Given the description of an element on the screen output the (x, y) to click on. 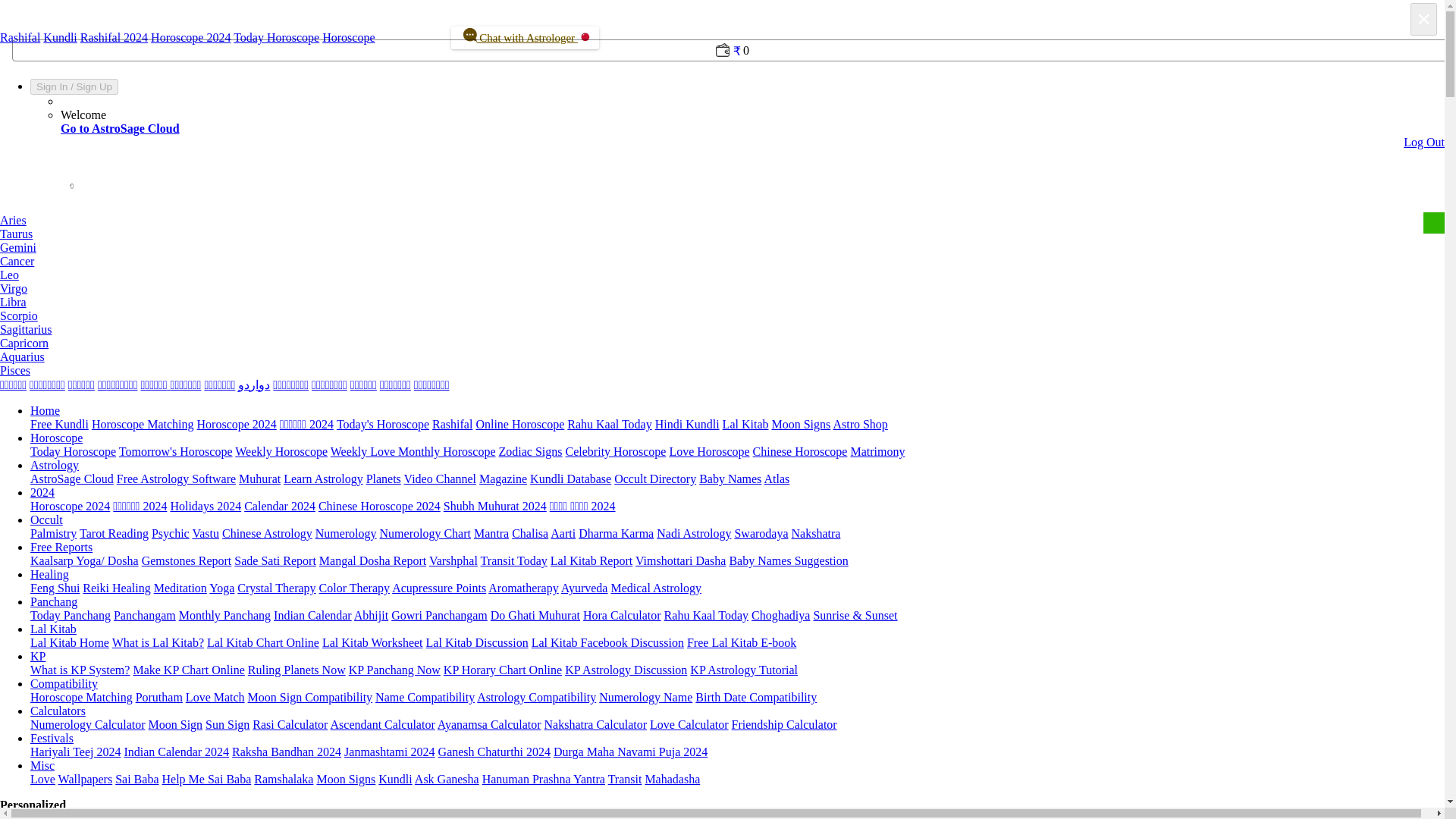
Go to AstroSage Cloud (120, 128)
Leo (9, 274)
Tamil (13, 384)
Capricorn (24, 342)
Urdu (253, 384)
Wallet (722, 62)
Gemini (18, 246)
Malayalam (218, 384)
Get your daily rashifal in hindi (451, 423)
Telugu (47, 384)
